Given the description of an element on the screen output the (x, y) to click on. 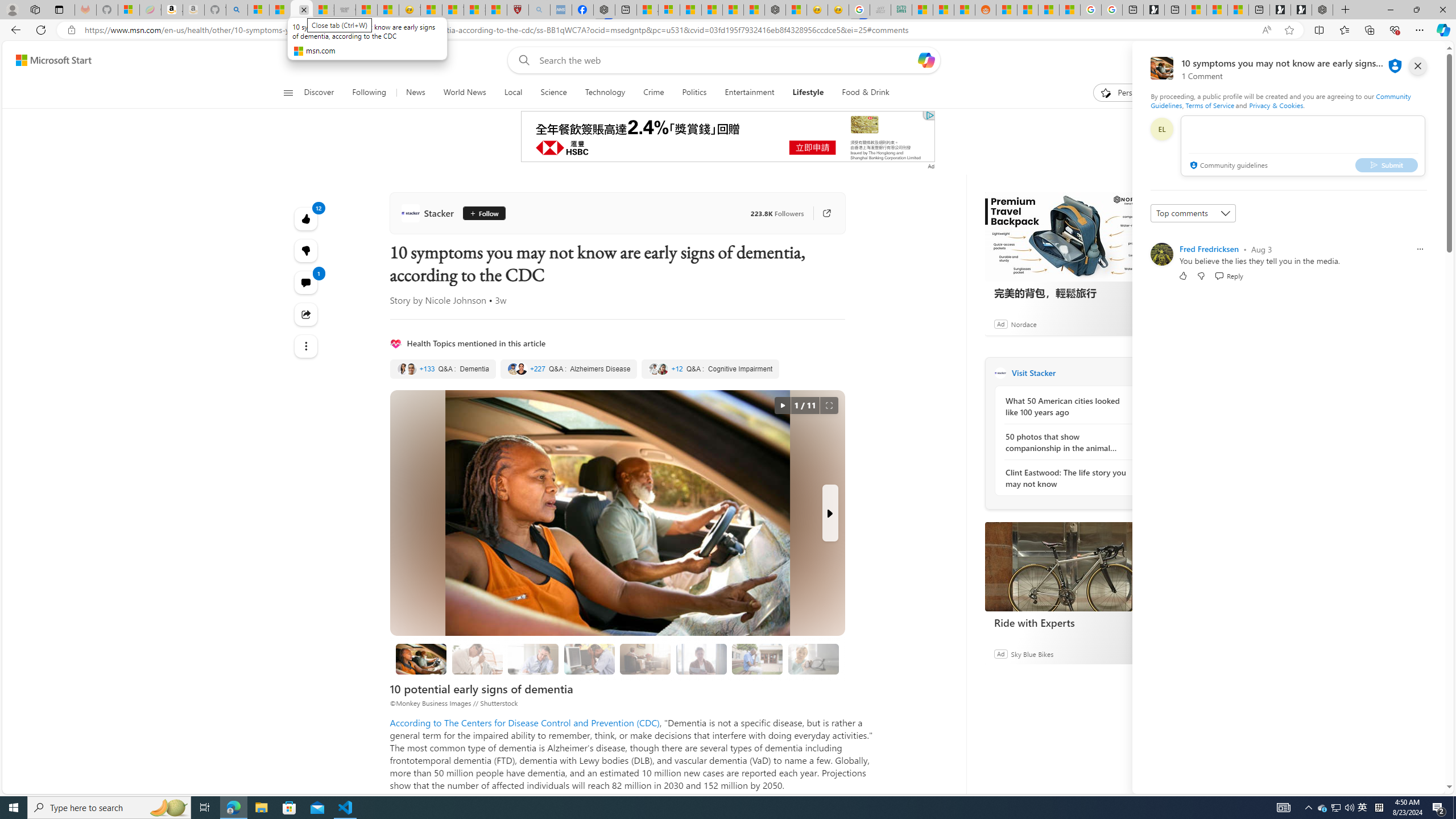
Entertainment (749, 92)
Go to publisher's site (826, 213)
Nordace - #1 Japanese Best-Seller - Siena Smart Backpack (775, 9)
Misplacing things and losing the ability to retrace steps (813, 659)
Following (370, 92)
Dementia (443, 368)
Enter your search term (726, 59)
Notifications (1397, 60)
Class: progress (813, 656)
Technology (604, 92)
Robert H. Shmerling, MD - Harvard Health (517, 9)
Discover (323, 92)
